Given the description of an element on the screen output the (x, y) to click on. 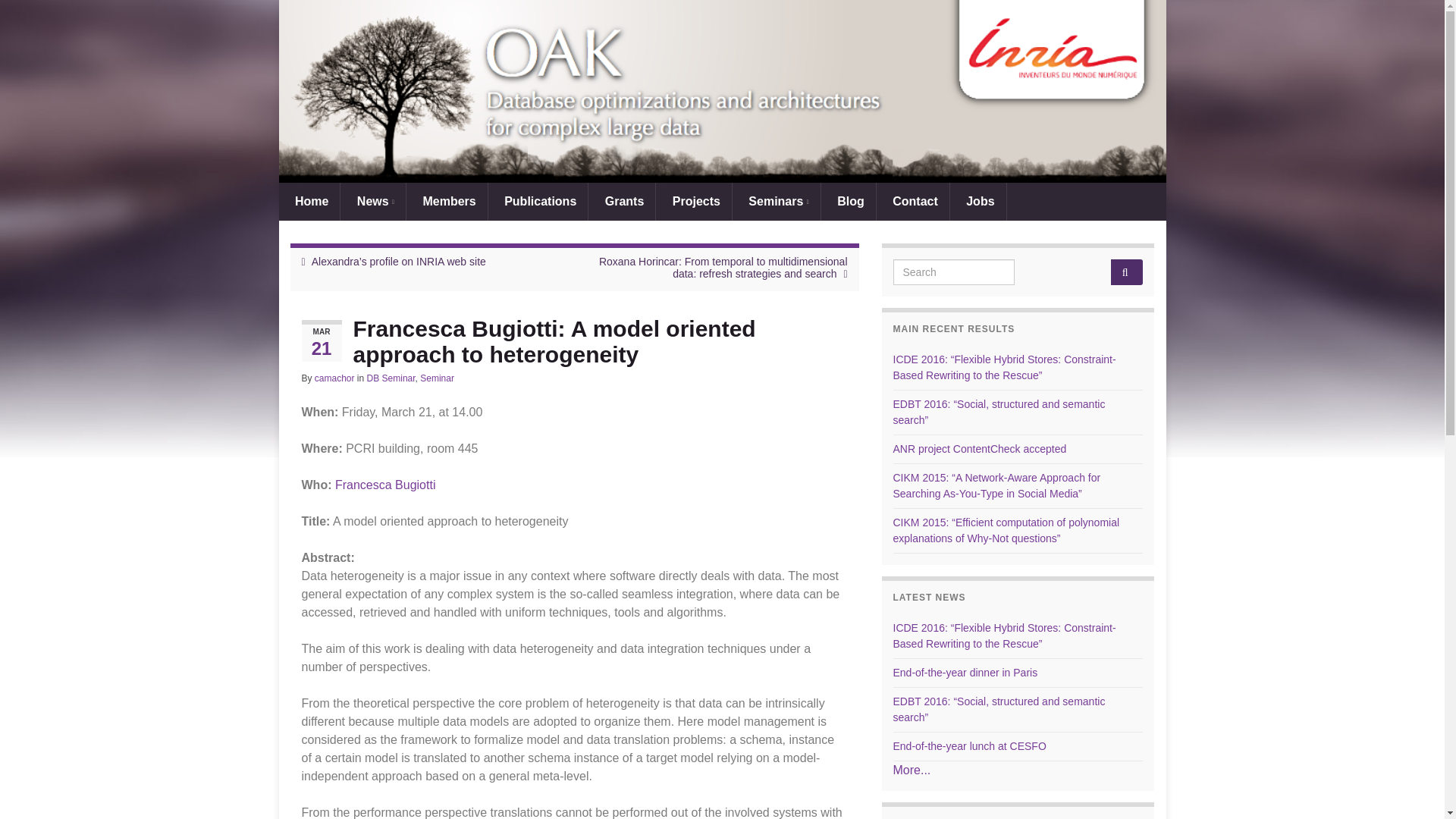
Francesca Bugiotti (384, 484)
Projects (694, 201)
More... (912, 769)
End-of-the-year lunch at CESFO (969, 746)
End-of-the-year dinner in Paris (965, 672)
News (373, 201)
Members (446, 201)
Grants (621, 201)
Blog (848, 201)
